Given the description of an element on the screen output the (x, y) to click on. 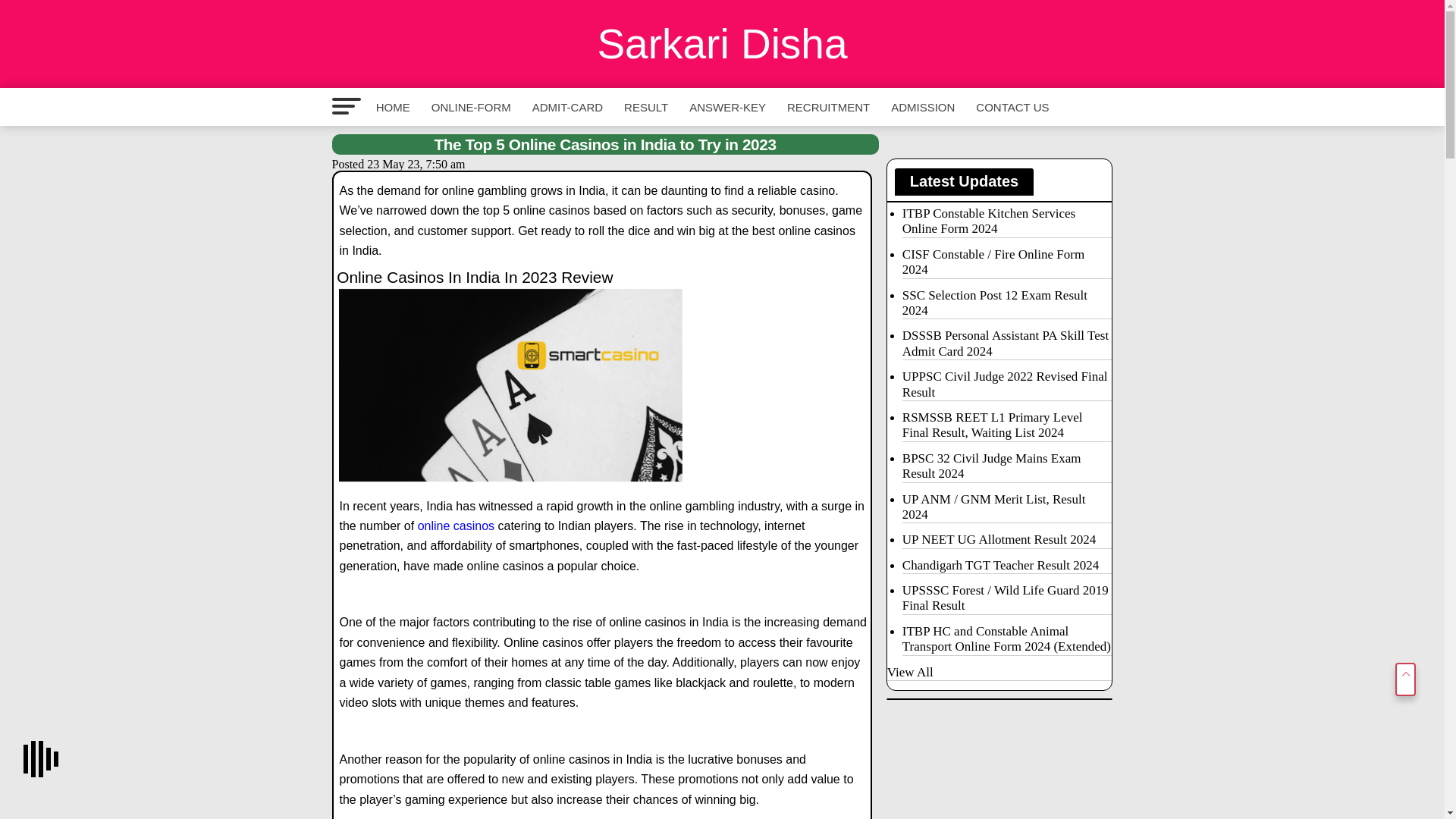
Sarkari Disha (721, 43)
ANSWER-KEY (726, 106)
UP NEET UG Allotment Result 2024 (1007, 539)
online casinos (456, 525)
ADMISSION (922, 106)
UPPSC Civil Judge 2022 Revised Final Result (1007, 385)
ITBP Constable Kitchen Services Online Form 2024 (1007, 203)
RSMSSB REET L1 Primary Level Final Result, Waiting List 2024 (1007, 426)
RESULT (645, 106)
HOME (392, 106)
